Given the description of an element on the screen output the (x, y) to click on. 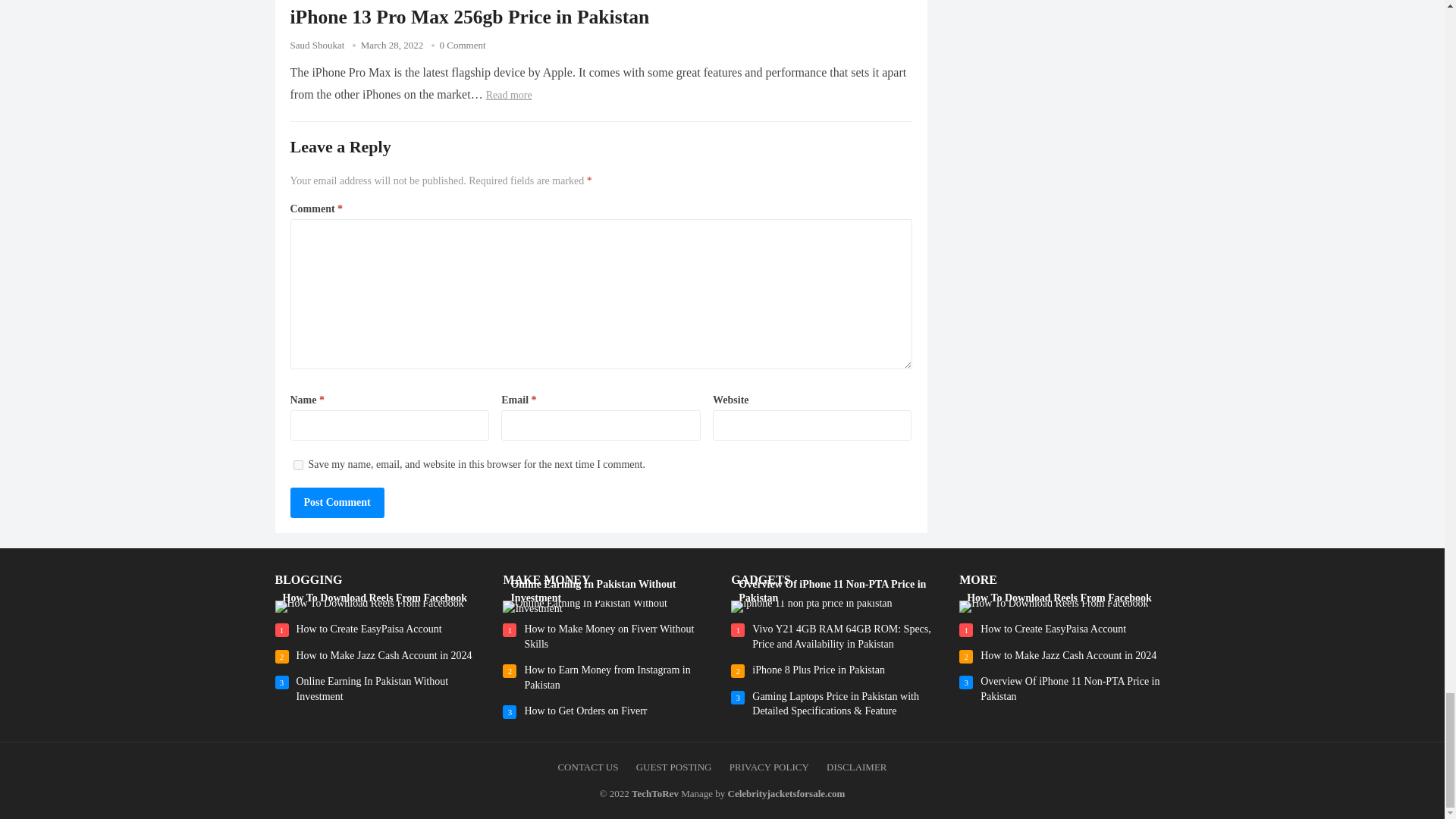
Post Comment (336, 502)
yes (297, 465)
Posts by Saud Shoukat (316, 44)
